Given the description of an element on the screen output the (x, y) to click on. 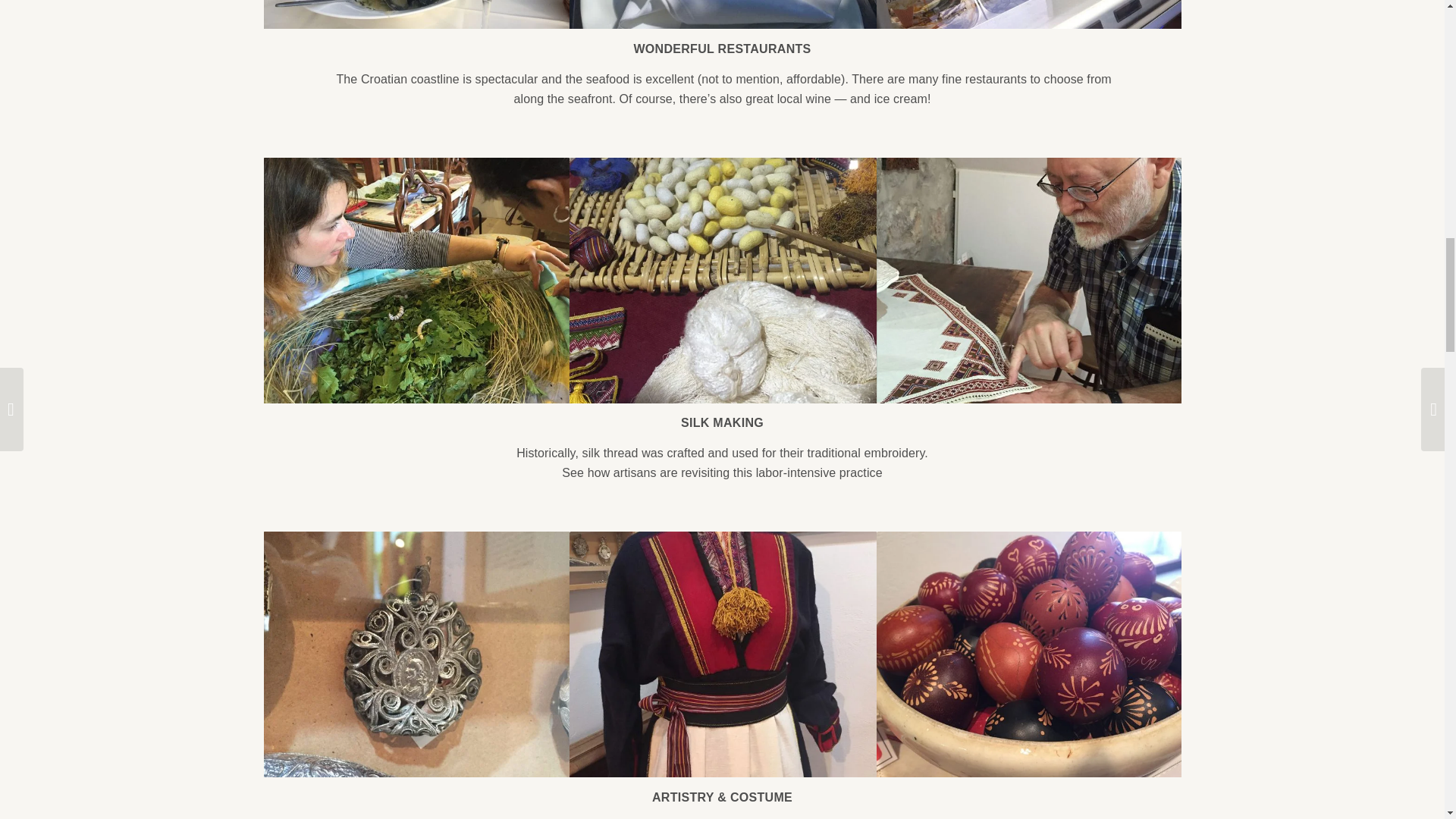
rene-cavtat-musselsWEB (416, 14)
